Given the description of an element on the screen output the (x, y) to click on. 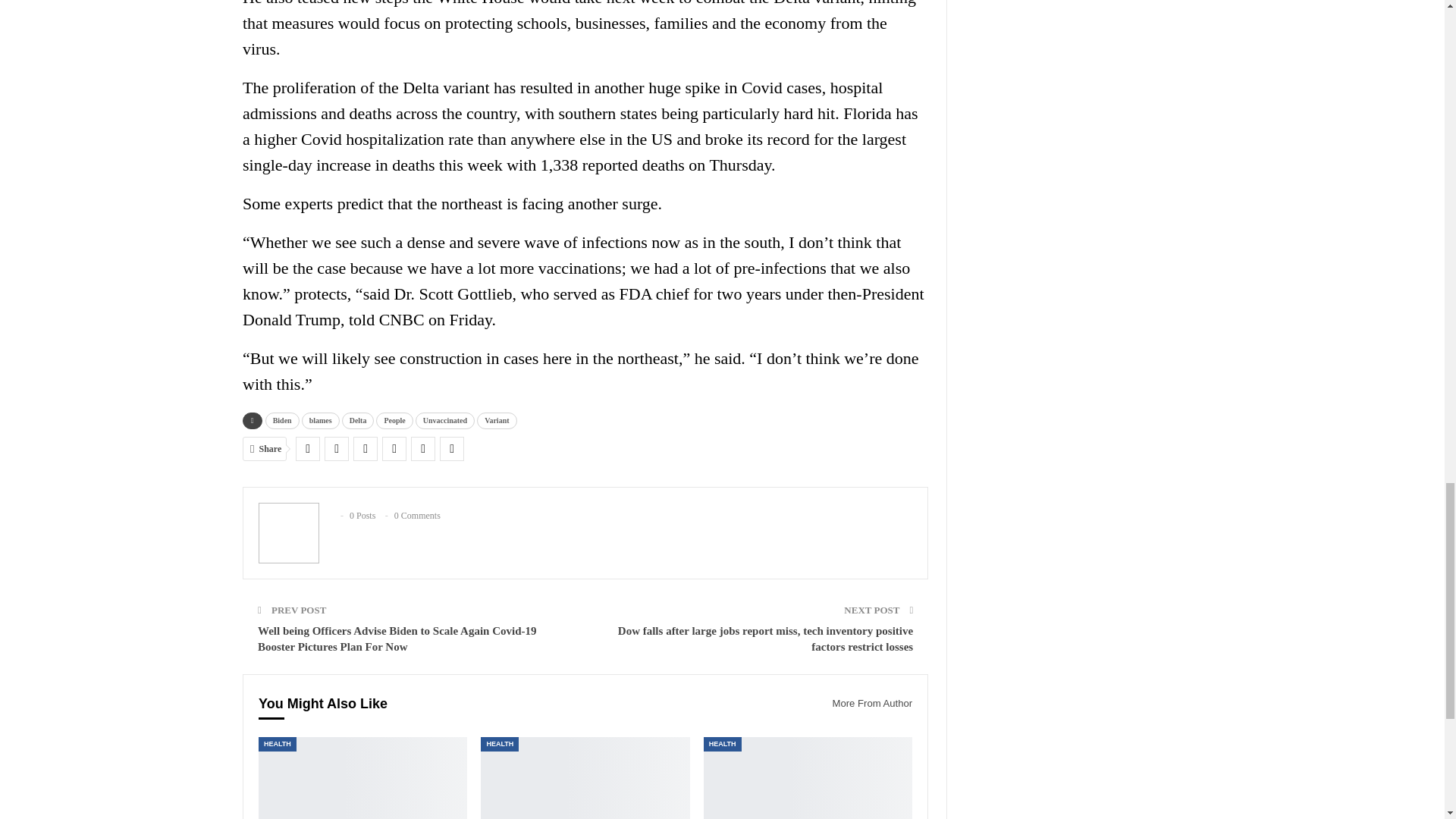
Biden (281, 420)
Unvaccinated (444, 420)
blames (320, 420)
Delta (358, 420)
People (393, 420)
